Given the description of an element on the screen output the (x, y) to click on. 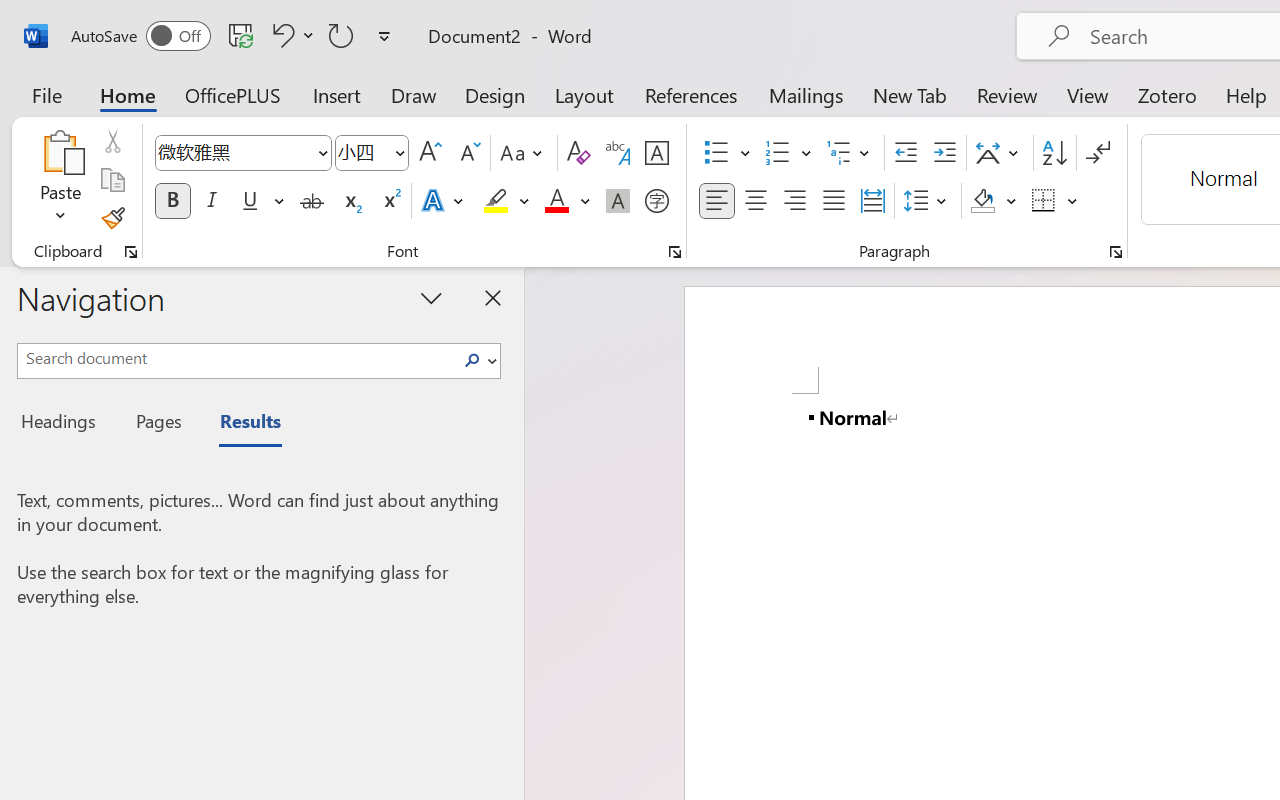
Character Shading (618, 201)
Line and Paragraph Spacing (927, 201)
Grow Font (430, 153)
Copy (112, 179)
Text Effects and Typography (444, 201)
Layout (584, 94)
View (1087, 94)
Class: NetUIImage (471, 360)
Pages (156, 424)
Office Clipboard... (131, 252)
Cut (112, 141)
Headings (64, 424)
Underline (250, 201)
